Given the description of an element on the screen output the (x, y) to click on. 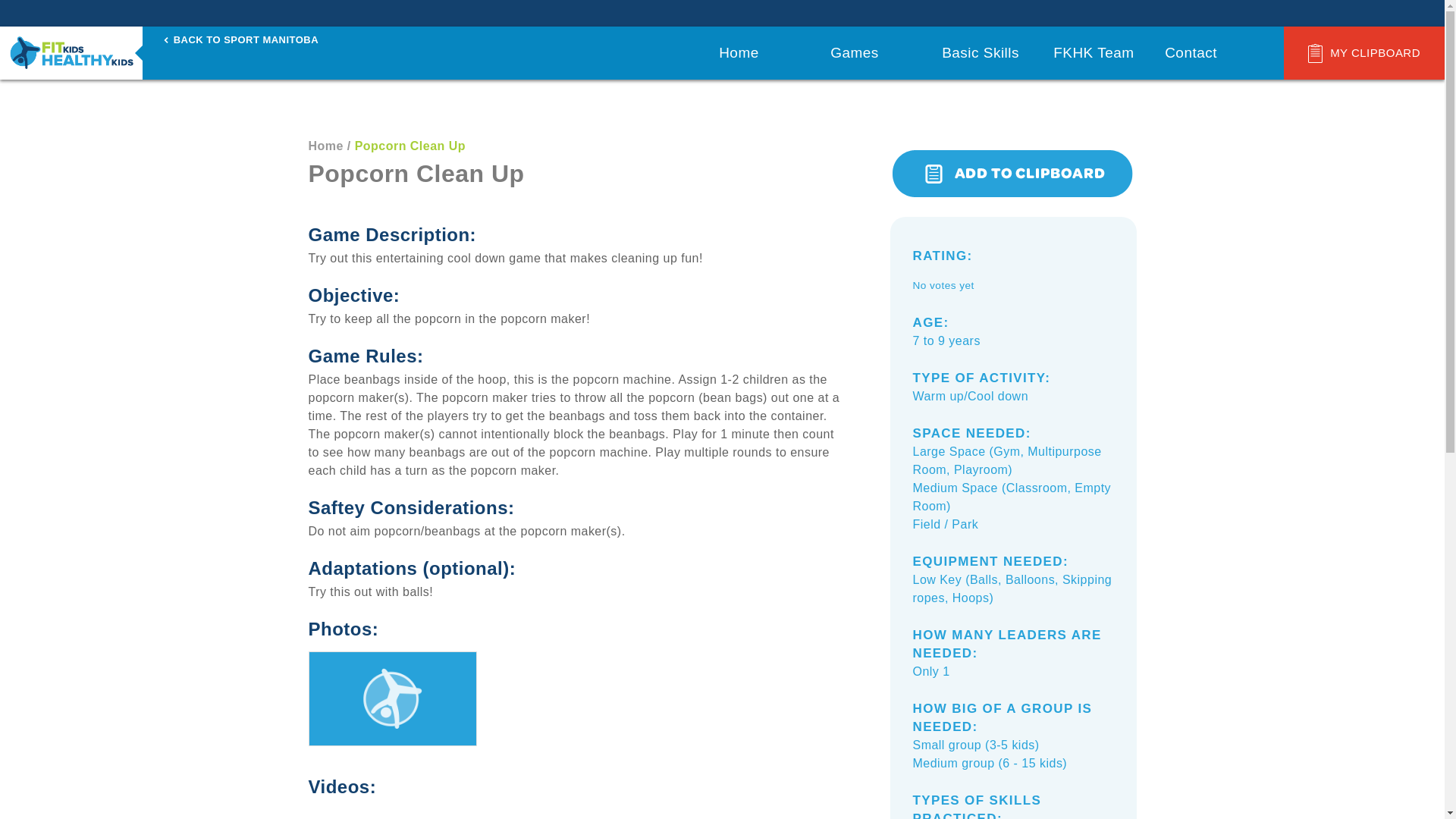
Home (761, 52)
Rate (27, 9)
Contact (1206, 52)
Games (872, 52)
Basic Skills (984, 52)
FKHK Team (1095, 52)
BACK TO SPORT MANITOBA (240, 40)
Search (37, 9)
Home (324, 145)
Home (71, 52)
Enter the terms you wish to search for. (1367, 13)
